Given the description of an element on the screen output the (x, y) to click on. 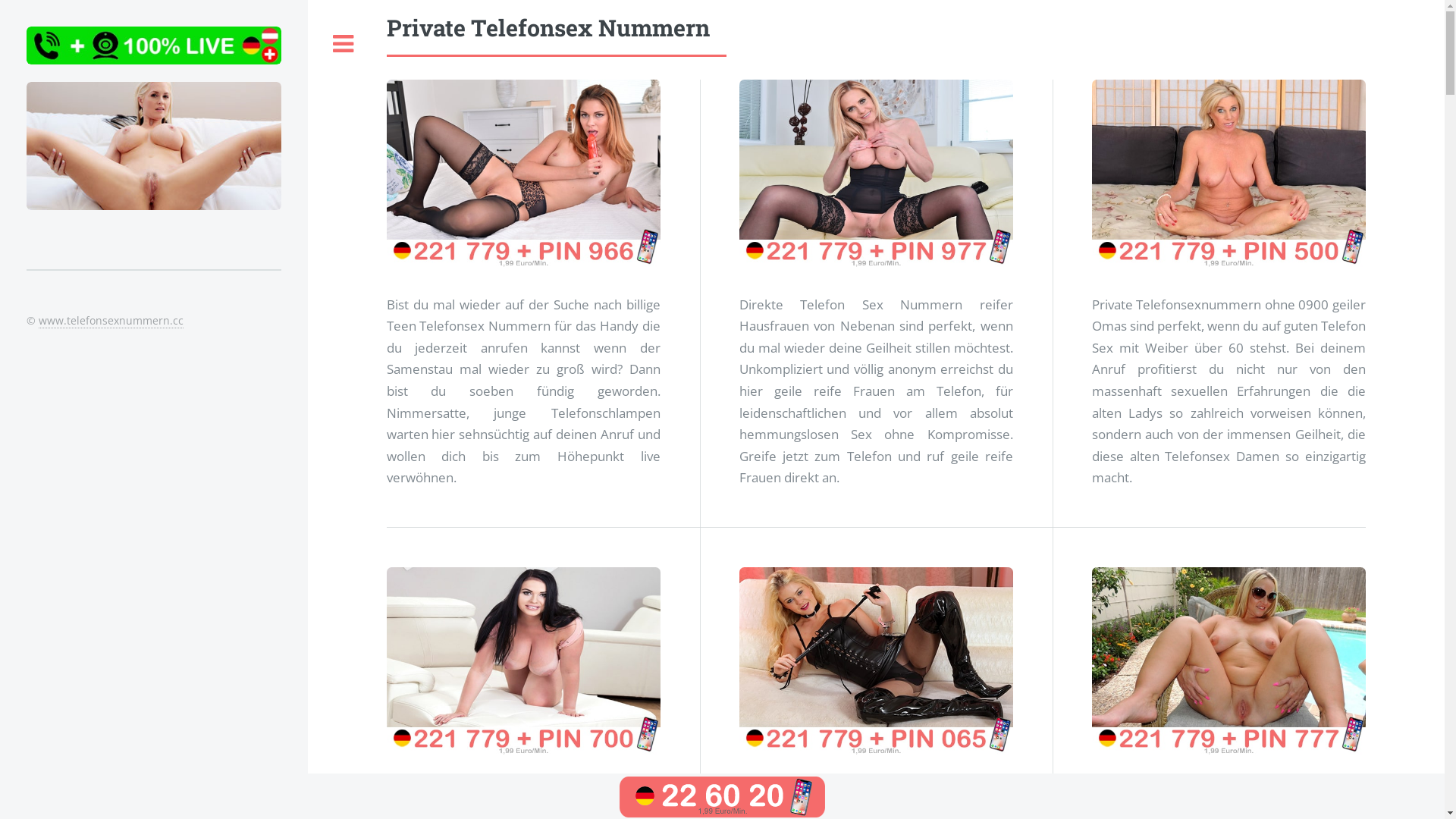
www.telefonsexnummern.cc Element type: text (110, 320)
Toggle Element type: text (343, 44)
